Given the description of an element on the screen output the (x, y) to click on. 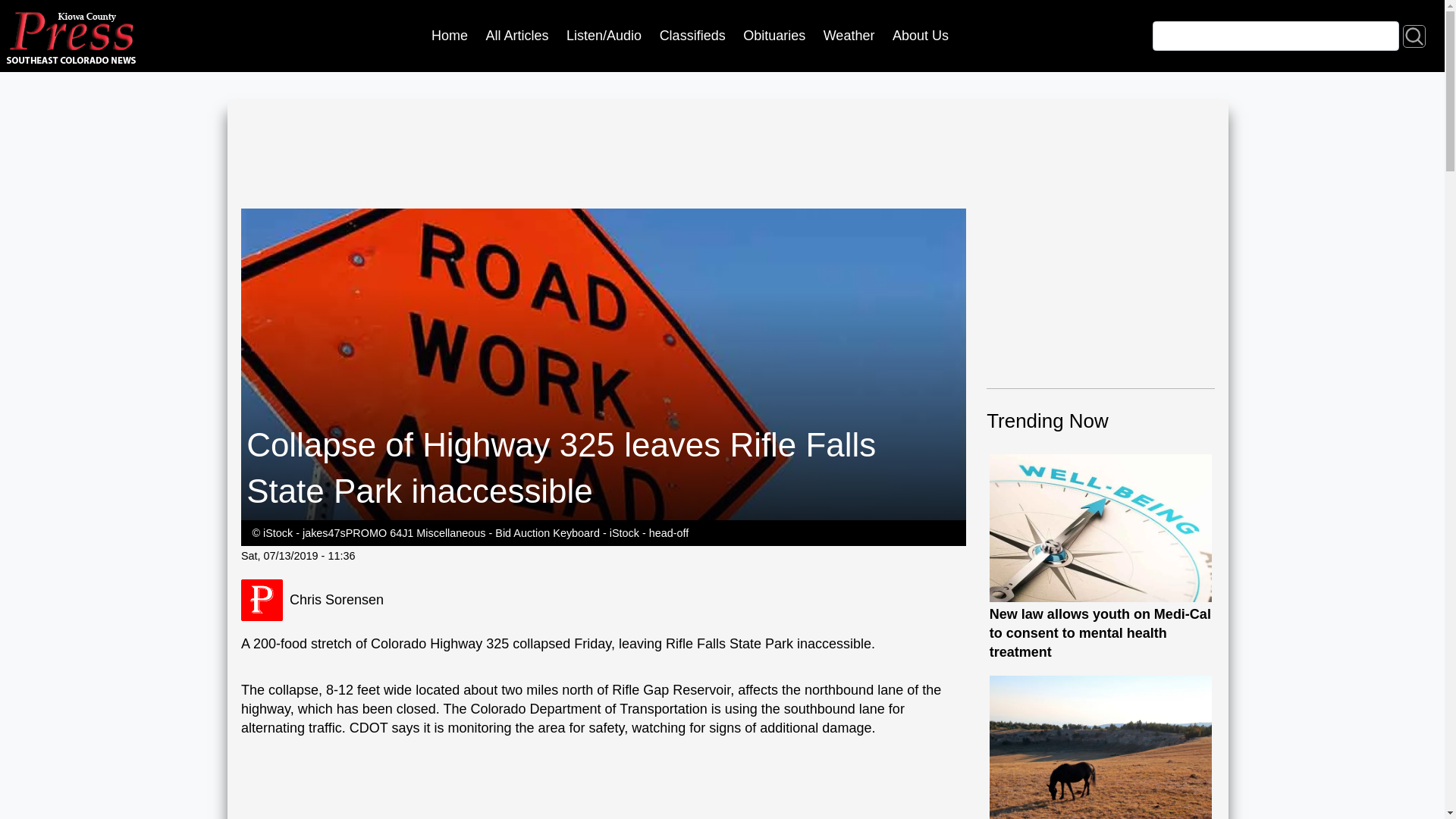
Search (1414, 35)
Saturday, July 13, 2019 - 11:36 (298, 555)
View Weather (849, 35)
Search (1414, 35)
Obituaries (774, 35)
About Us (920, 35)
3rd party ad content (517, 160)
view all articles (517, 35)
Weather (849, 35)
view about us page (920, 35)
All Articles (517, 35)
Home (449, 35)
